Given the description of an element on the screen output the (x, y) to click on. 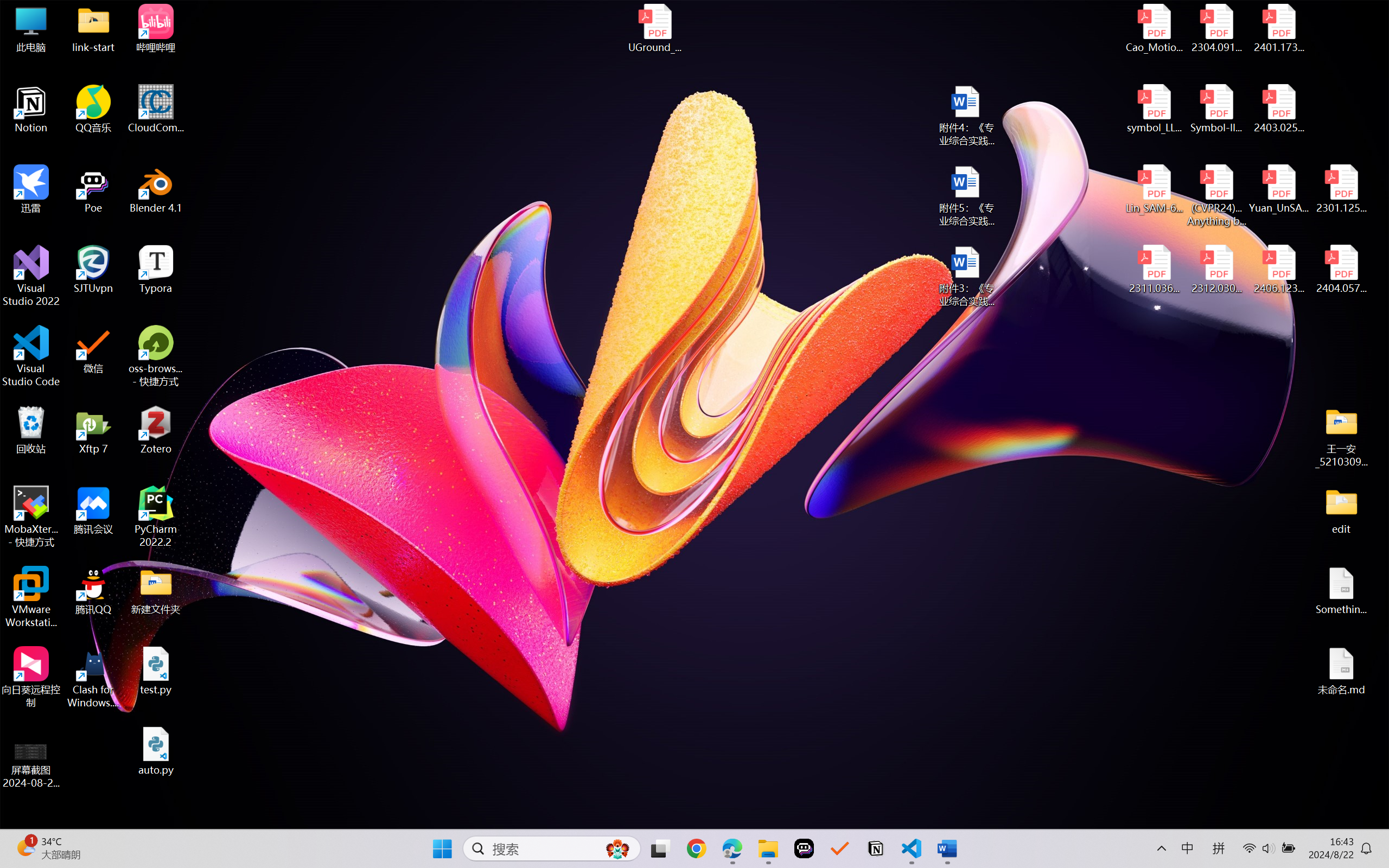
SJTUvpn (93, 269)
PyCharm 2022.2 (156, 516)
(CVPR24)Matching Anything by Segmenting Anything.pdf (1216, 195)
UGround_paper.pdf (654, 28)
edit (1340, 510)
